Given the description of an element on the screen output the (x, y) to click on. 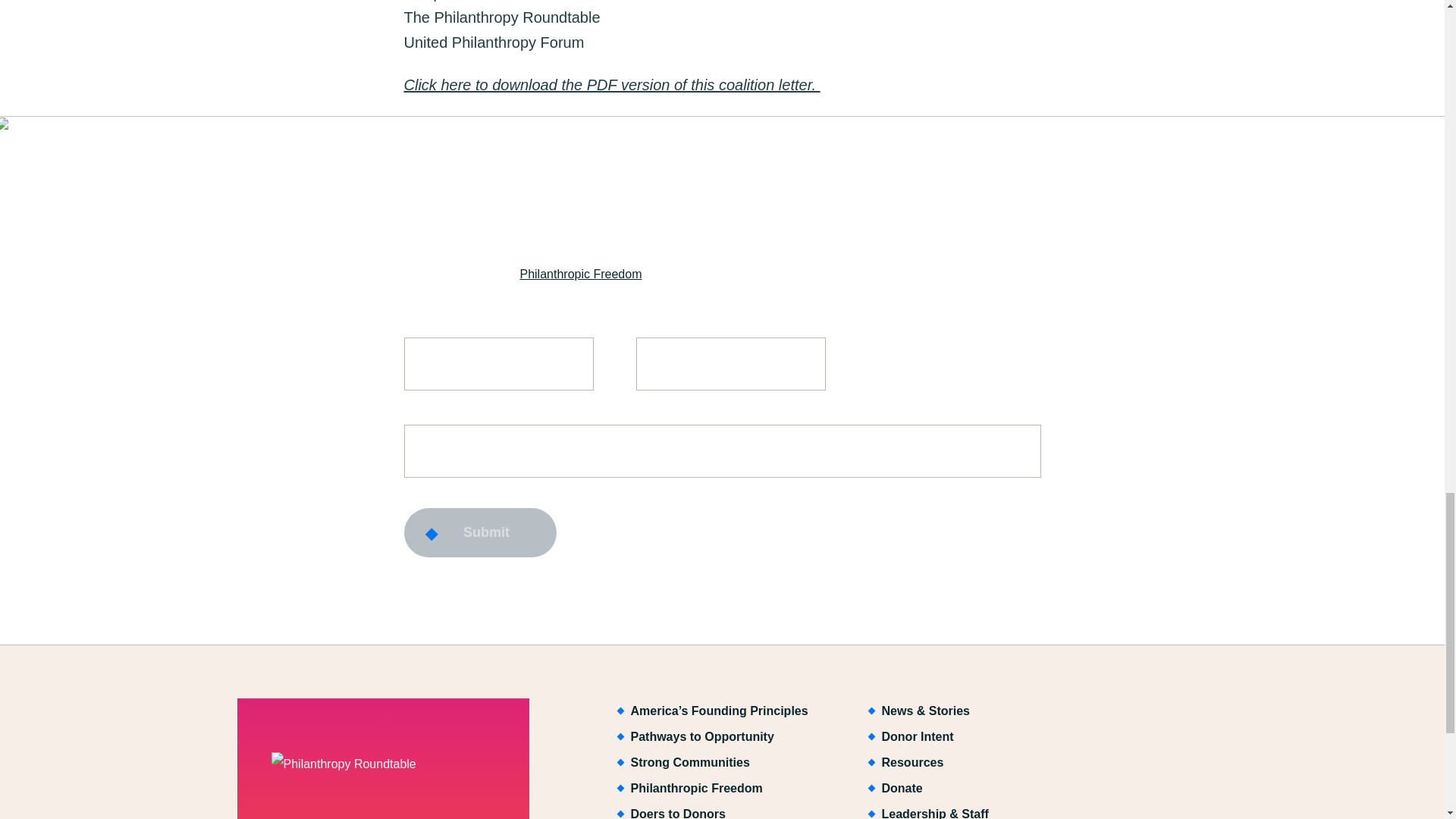
Philanthropic Freedom (580, 273)
Submit (479, 532)
Submit (479, 532)
